Given the description of an element on the screen output the (x, y) to click on. 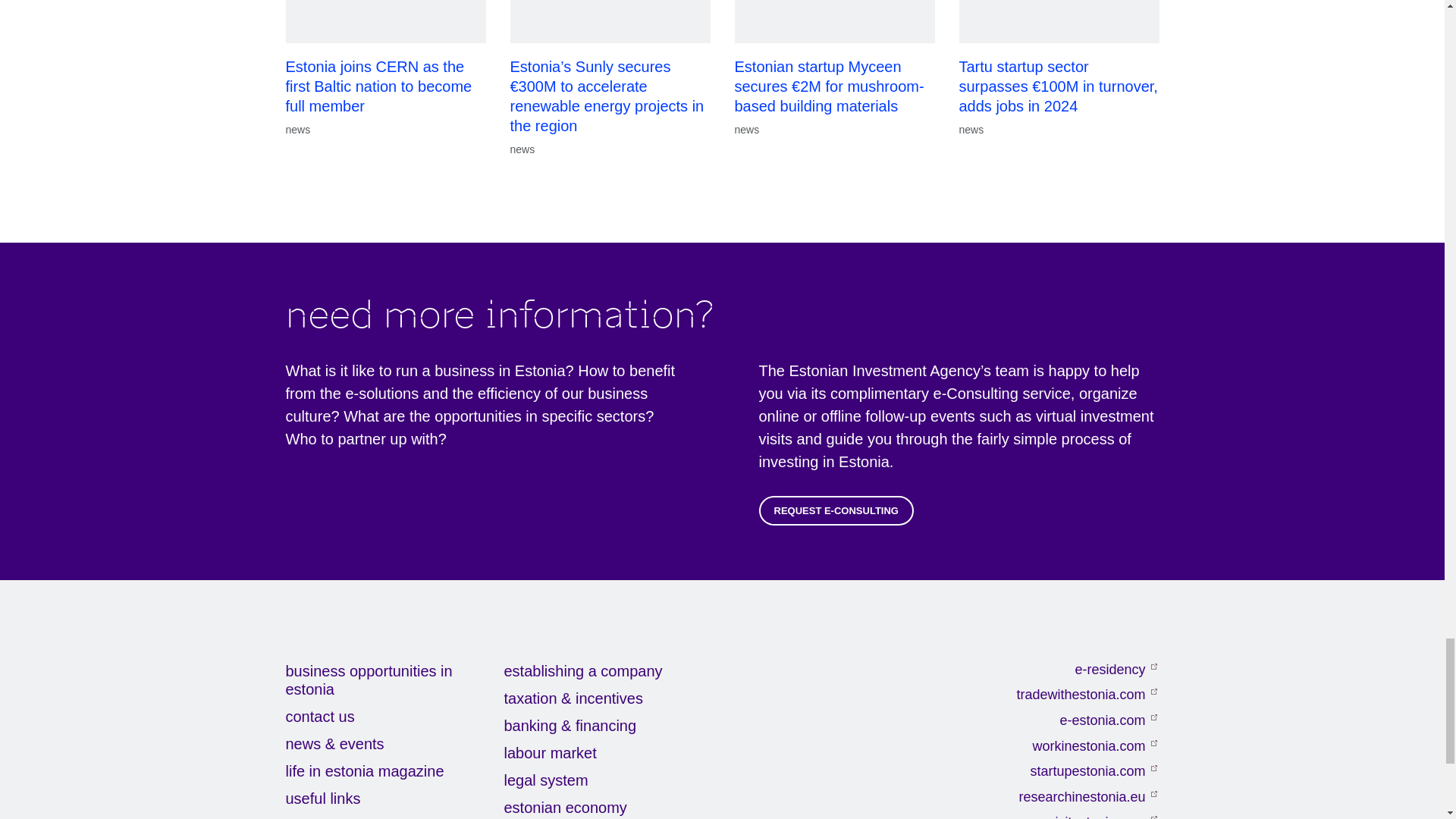
REQUEST E-CONSULTING (835, 510)
contact us (394, 716)
business opportunities in estonia (394, 679)
